Given the description of an element on the screen output the (x, y) to click on. 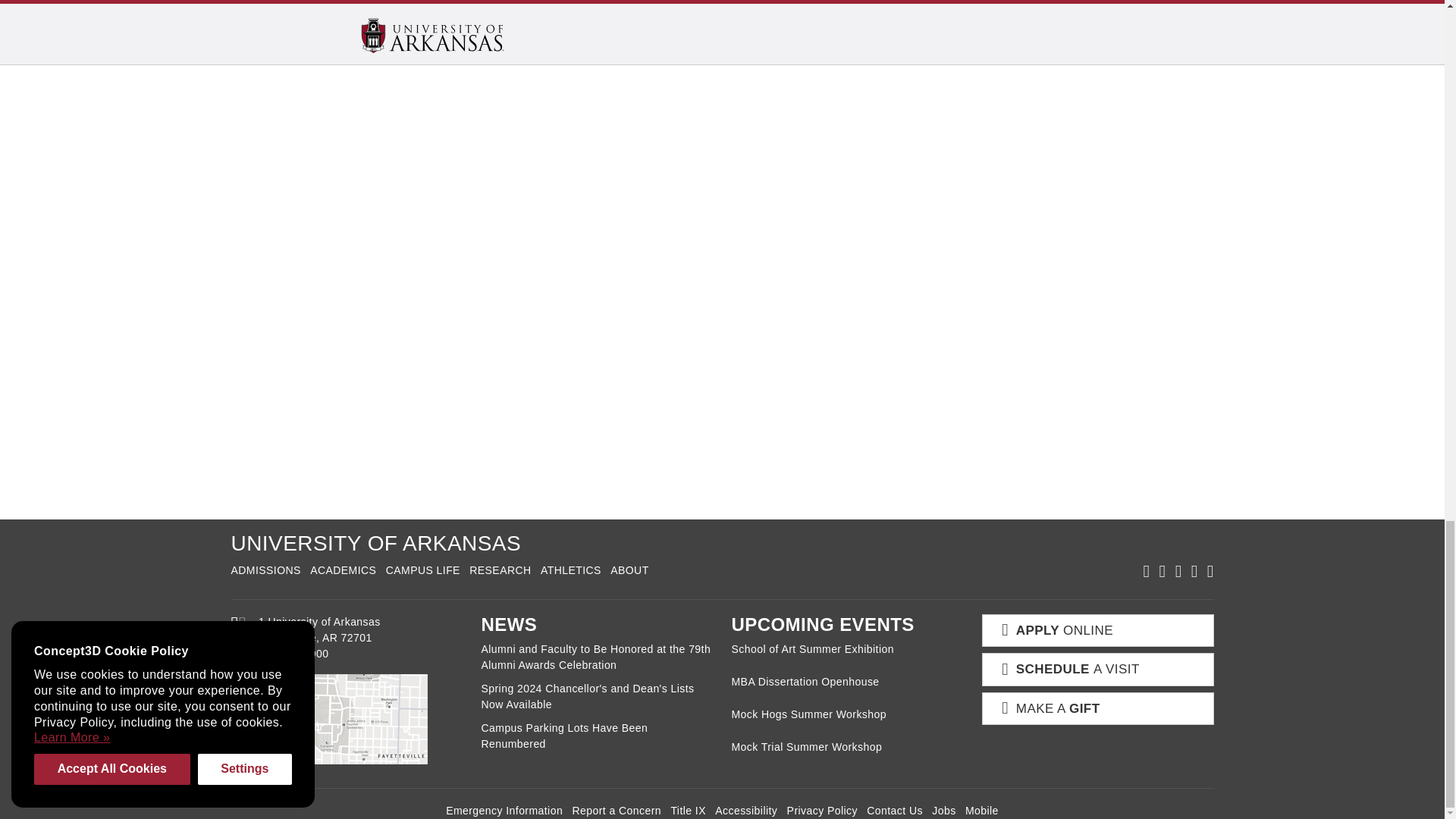
View Campus Maps (346, 719)
University of Arkansas Admissions (264, 570)
University of Arkansas Research (499, 570)
University of Arkansas Academics (342, 570)
University of Arkansas Athletics (570, 570)
Public transport (897, 24)
About the University of Arkansas (628, 570)
Campus Life at the University of Arkansas (422, 570)
View Campus Maps (238, 626)
University of Arkansas Home Page (375, 543)
